Given the description of an element on the screen output the (x, y) to click on. 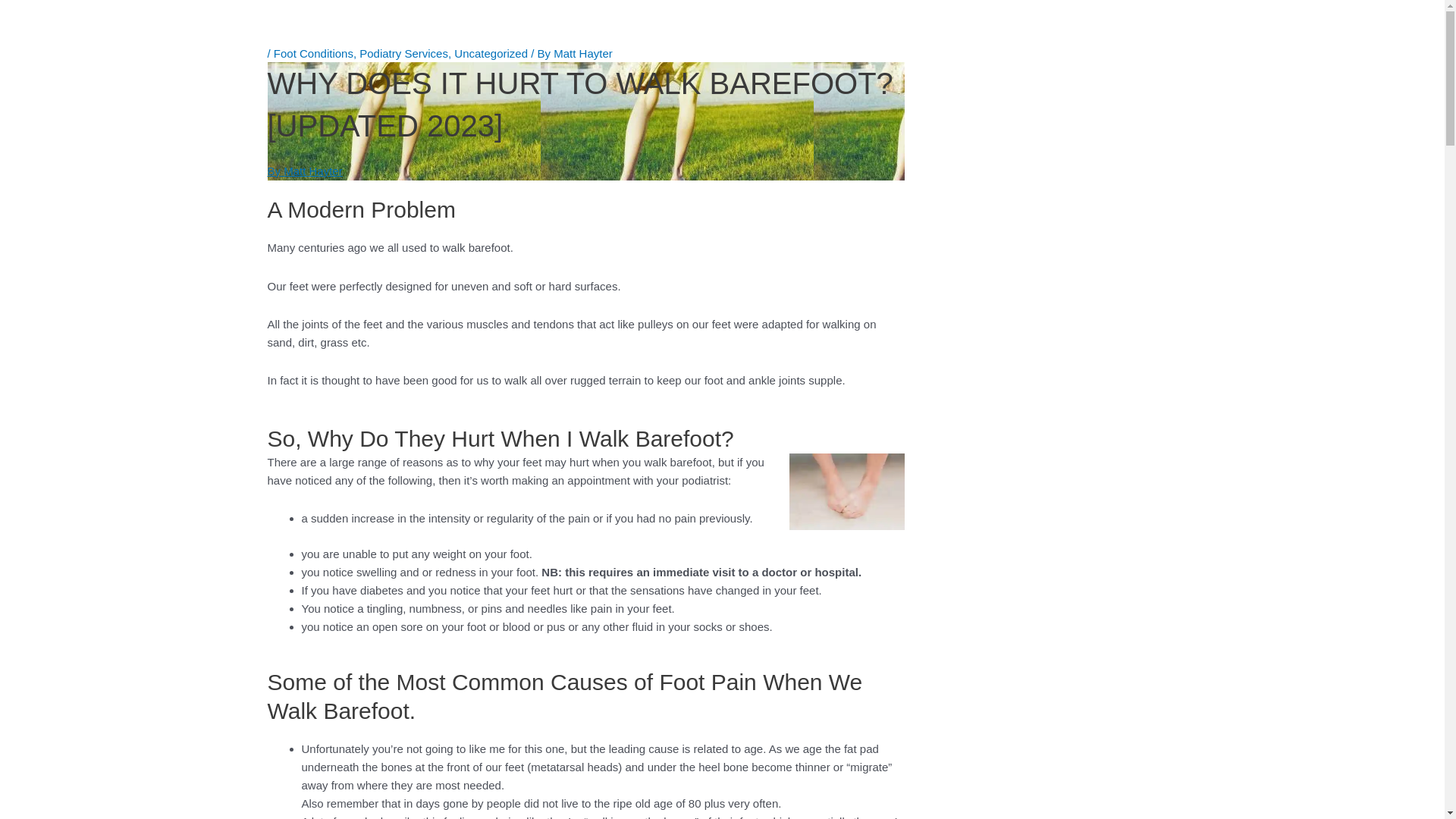
Uncategorized Element type: text (490, 53)
Search Element type: text (842, 60)
By Matt Hayter Element type: text (304, 171)
Foot Conditions Element type: text (313, 53)
Matt Hayter Element type: text (582, 53)
Podiatry Services Element type: text (403, 53)
